Given the description of an element on the screen output the (x, y) to click on. 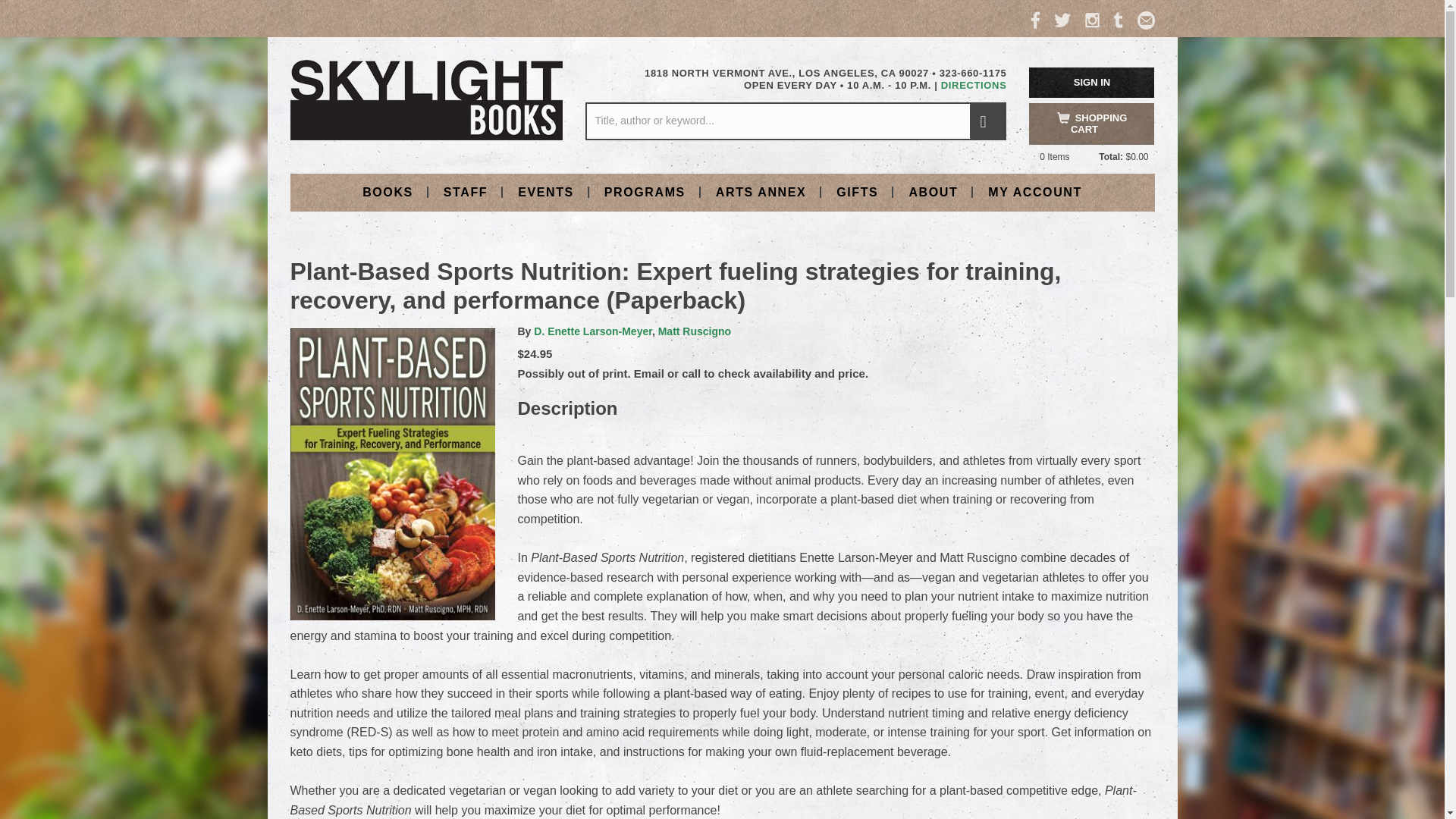
BOOKS (387, 191)
SHOPPING CART (1091, 123)
search (987, 121)
Title, author or keyword... (795, 121)
GIFTS (857, 191)
PROGRAMS (644, 191)
SIGN IN (1091, 81)
search (987, 121)
STAFF (465, 191)
ARTS ANNEX (760, 191)
EVENTS (545, 191)
Home (425, 98)
DIRECTIONS (973, 84)
